Given the description of an element on the screen output the (x, y) to click on. 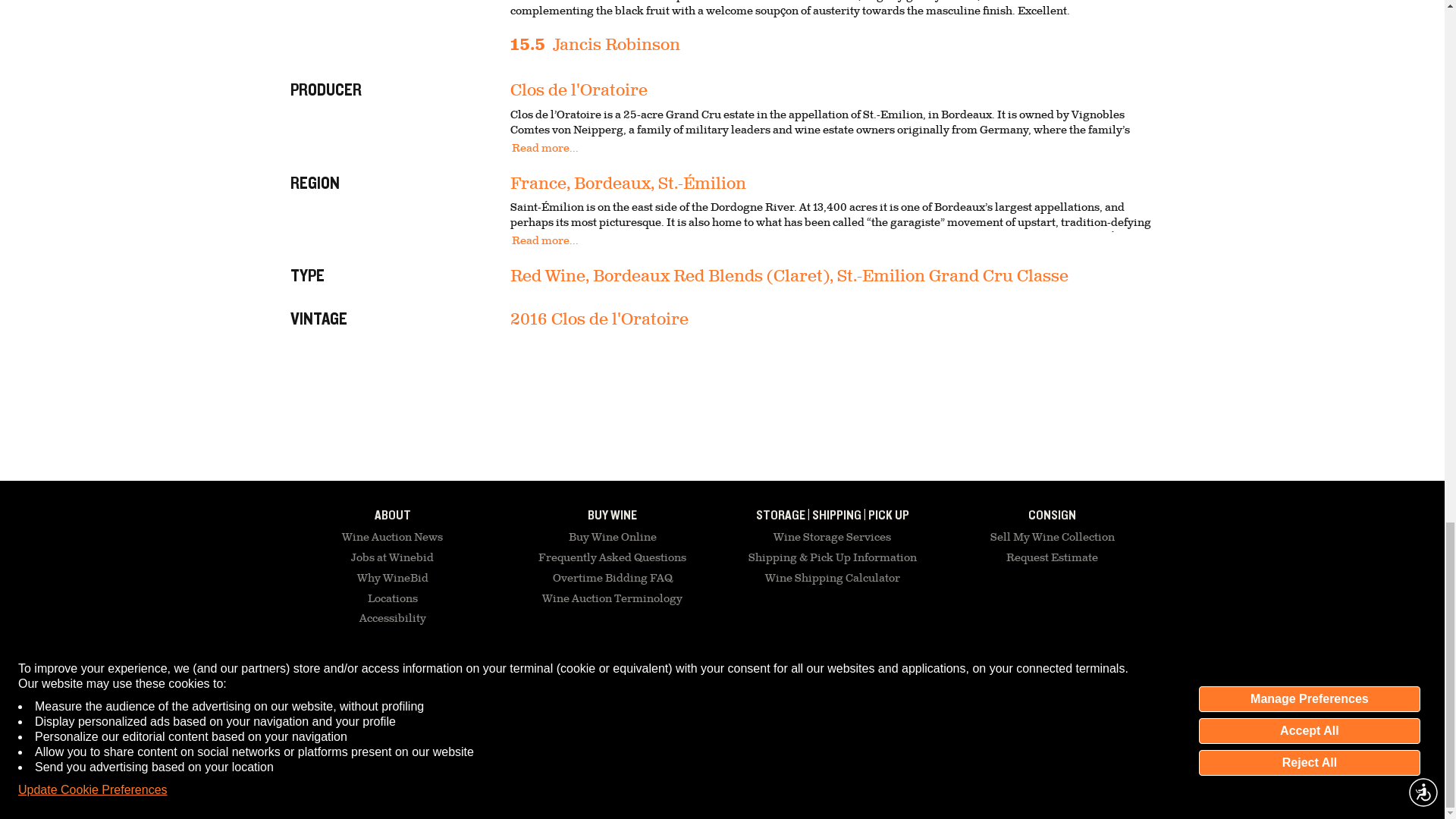
Download on the App Store (898, 688)
Call WineBid about selling or buying fine wine. (504, 683)
Email (359, 683)
